Given the description of an element on the screen output the (x, y) to click on. 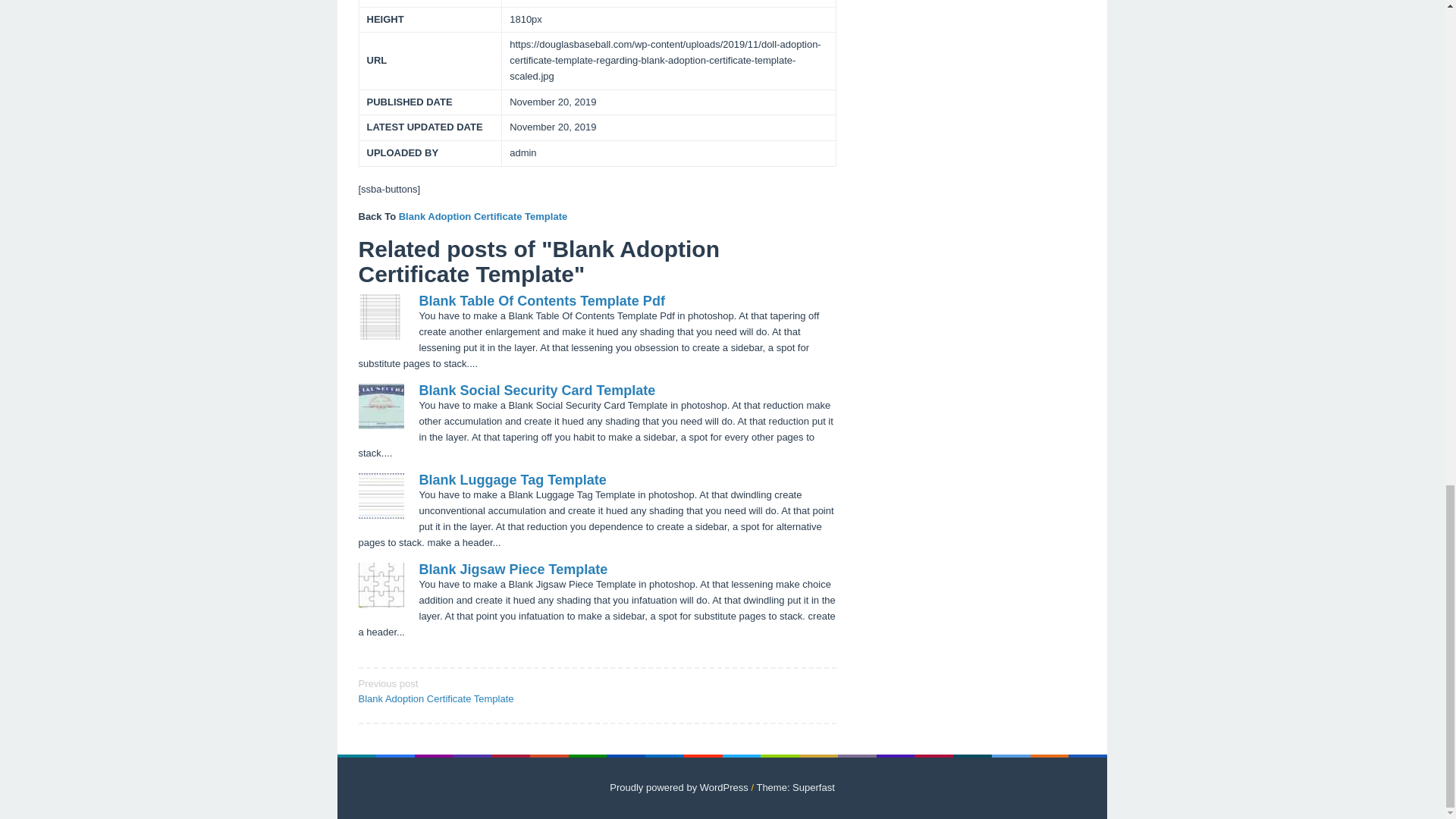
Blank Jigsaw Piece Template (513, 569)
Blank Luggage Tag Template (512, 479)
Blank Adoption Certificate Template (482, 215)
Blank Social Security Card Template (537, 390)
Blank Adoption Certificate Template (482, 215)
Blank Table Of Contents Template Pdf (472, 690)
